Given the description of an element on the screen output the (x, y) to click on. 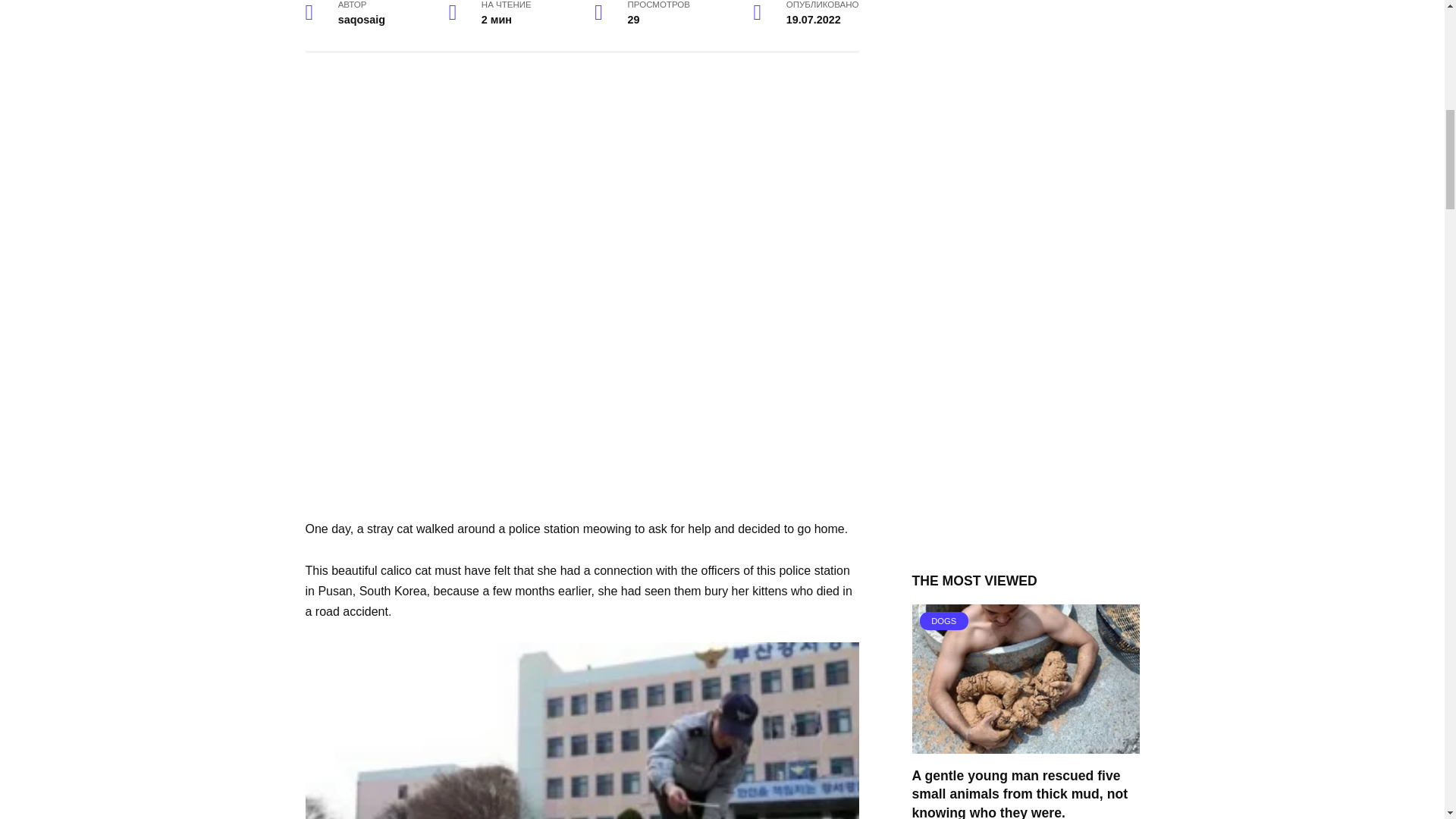
Advertisement (581, 182)
Advertisement (581, 412)
DOGS (1024, 744)
